Given the description of an element on the screen output the (x, y) to click on. 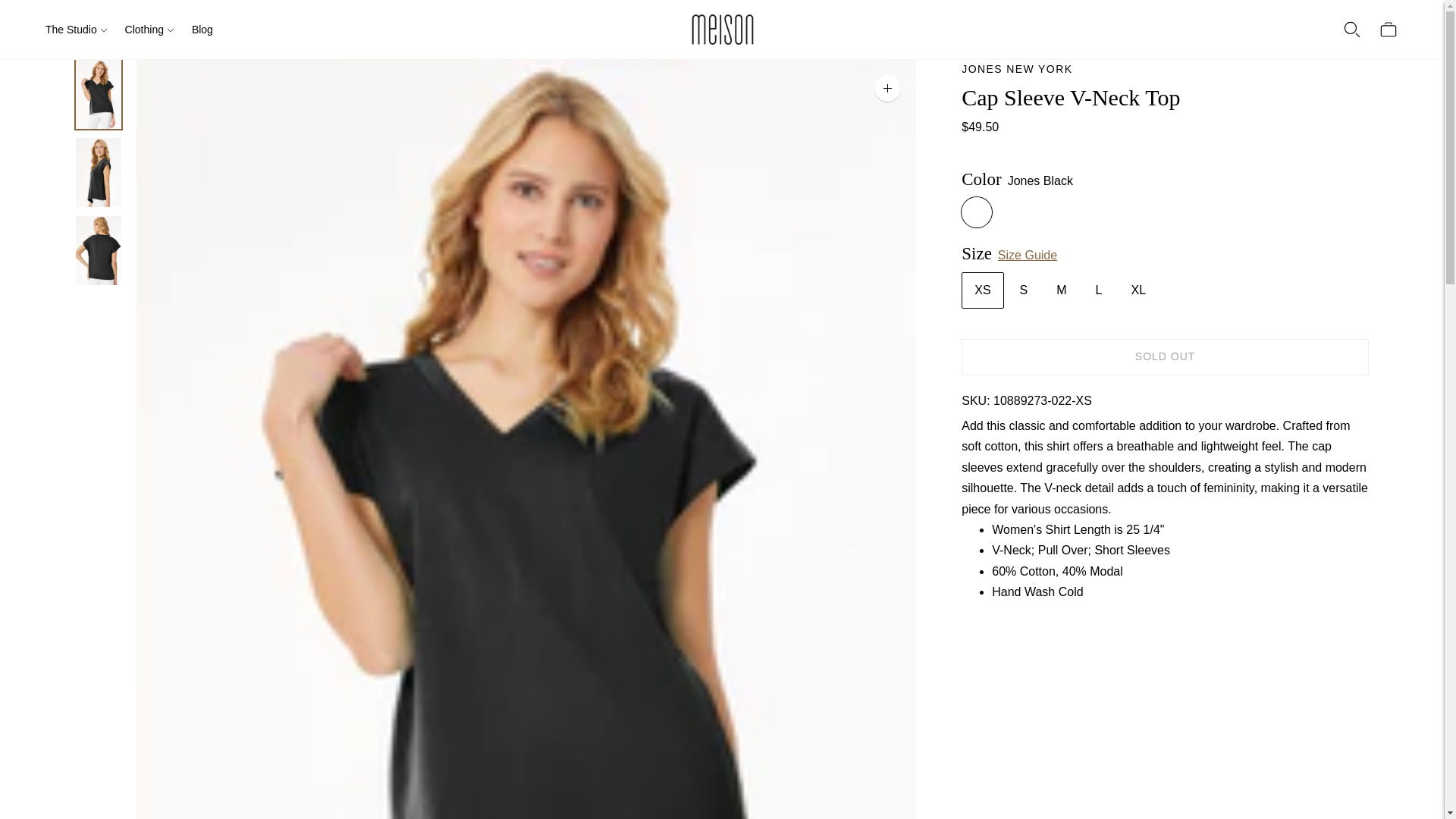
Clothing (149, 29)
Jones New York (1015, 69)
The Studio (75, 29)
